Given the description of an element on the screen output the (x, y) to click on. 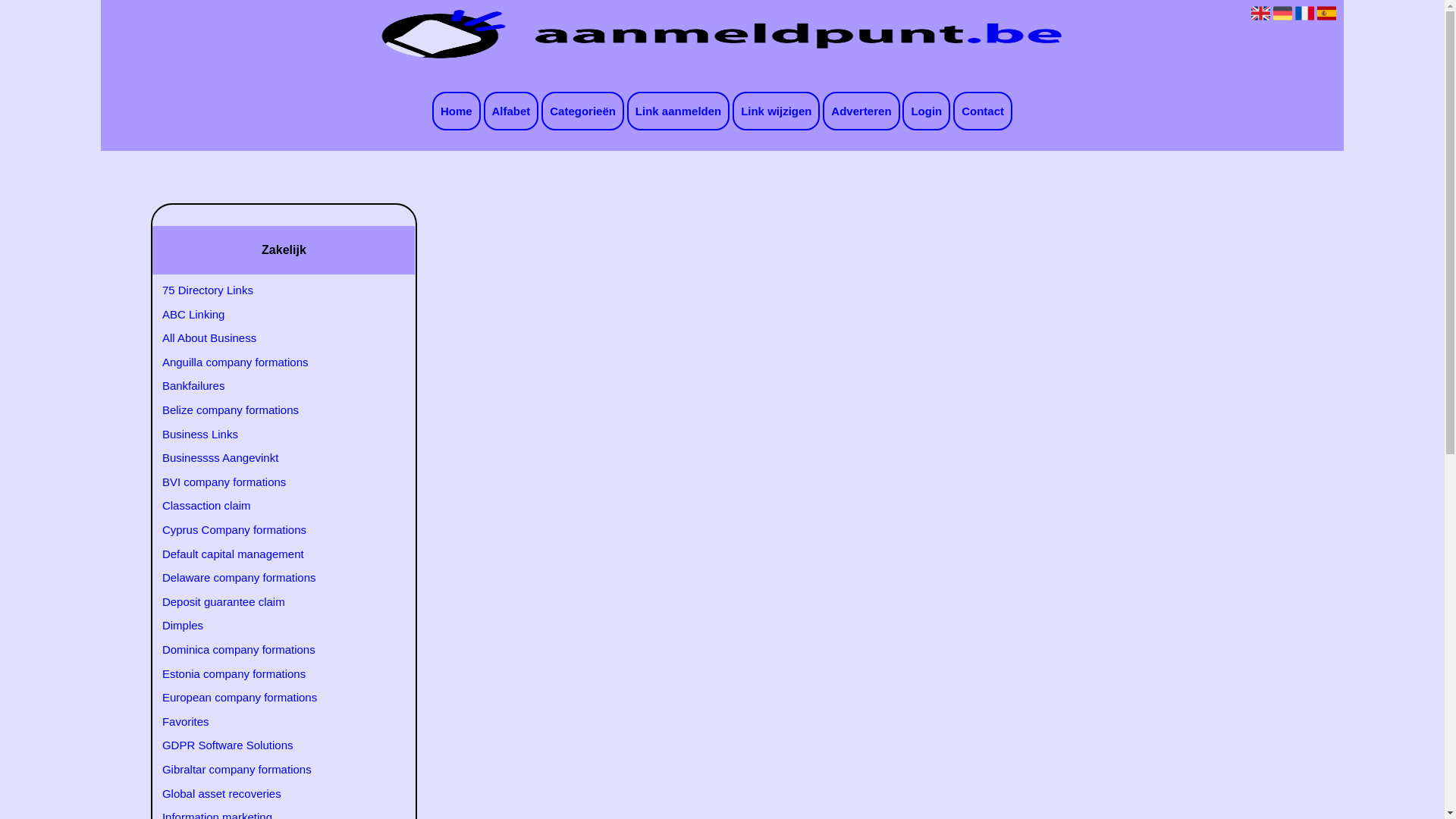
Delaware company formations Element type: text (274, 577)
Belize company formations Element type: text (274, 410)
Login Element type: text (926, 110)
Link wijzigen Element type: text (775, 110)
Gibraltar company formations Element type: text (274, 769)
Contact Element type: text (982, 110)
Deposit guarantee claim Element type: text (274, 601)
Dimples Element type: text (274, 625)
BVI company formations Element type: text (274, 482)
All About Business Element type: text (274, 338)
ABC Linking Element type: text (274, 314)
Default capital management Element type: text (274, 554)
Global asset recoveries Element type: text (274, 793)
Link aanmelden Element type: text (678, 110)
Cyprus Company formations Element type: text (274, 529)
Alfabet Element type: text (511, 110)
Adverteren Element type: text (860, 110)
Businessss Aangevinkt Element type: text (274, 457)
Bankfailures Element type: text (274, 385)
Business Links Element type: text (274, 434)
Classaction claim Element type: text (274, 505)
Favorites Element type: text (274, 721)
Home Element type: text (456, 110)
GDPR Software Solutions Element type: text (274, 745)
Estonia company formations Element type: text (274, 674)
Dominica company formations Element type: text (274, 649)
Anguilla company formations Element type: text (274, 362)
European company formations Element type: text (274, 697)
75 Directory Links Element type: text (274, 290)
